Given the description of an element on the screen output the (x, y) to click on. 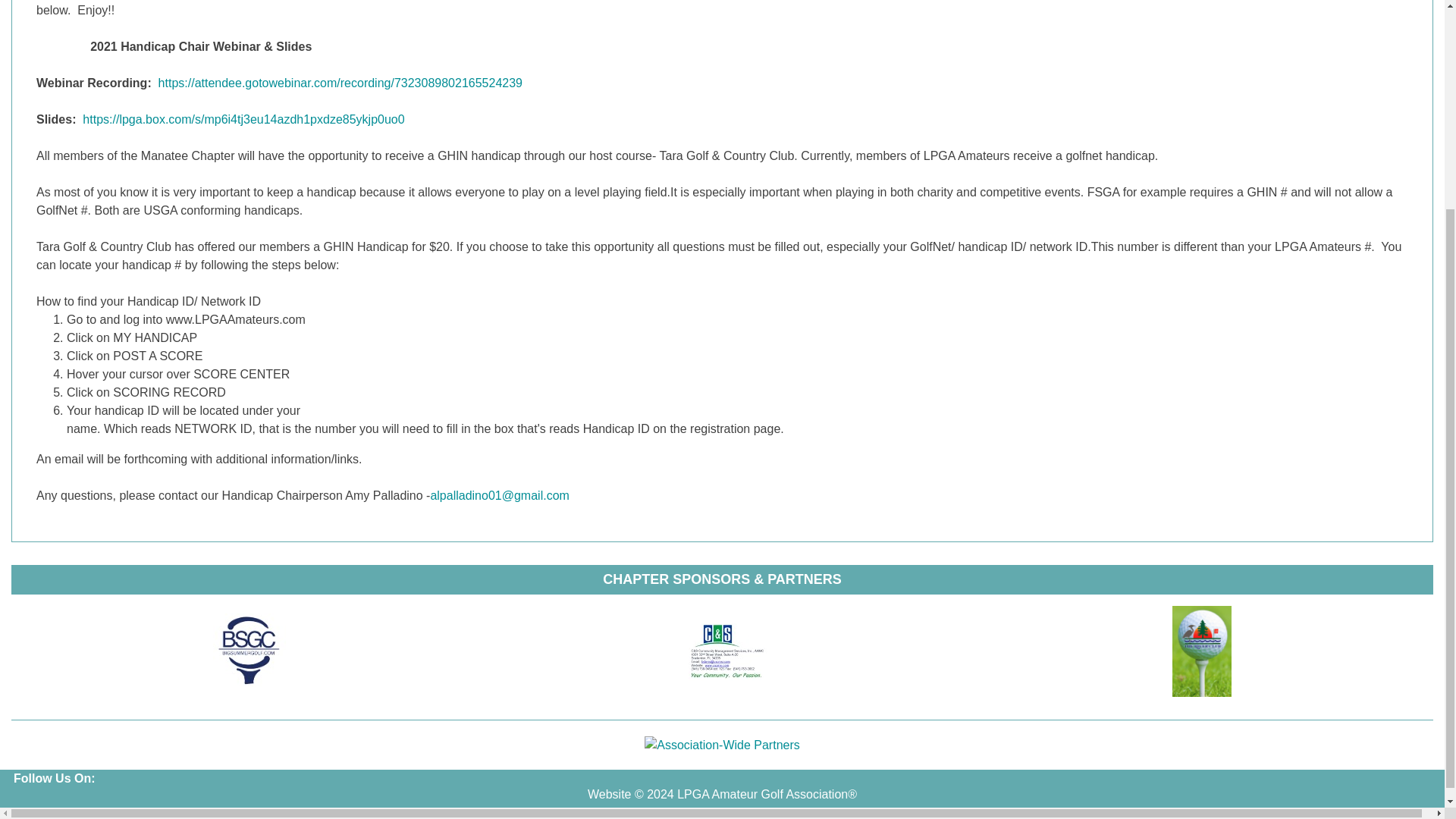
CSCMSI.com (728, 651)
BigSummerlogo (249, 651)
www.LPGAAmateurs.com (235, 318)
Facebook (25, 801)
